Given the description of an element on the screen output the (x, y) to click on. 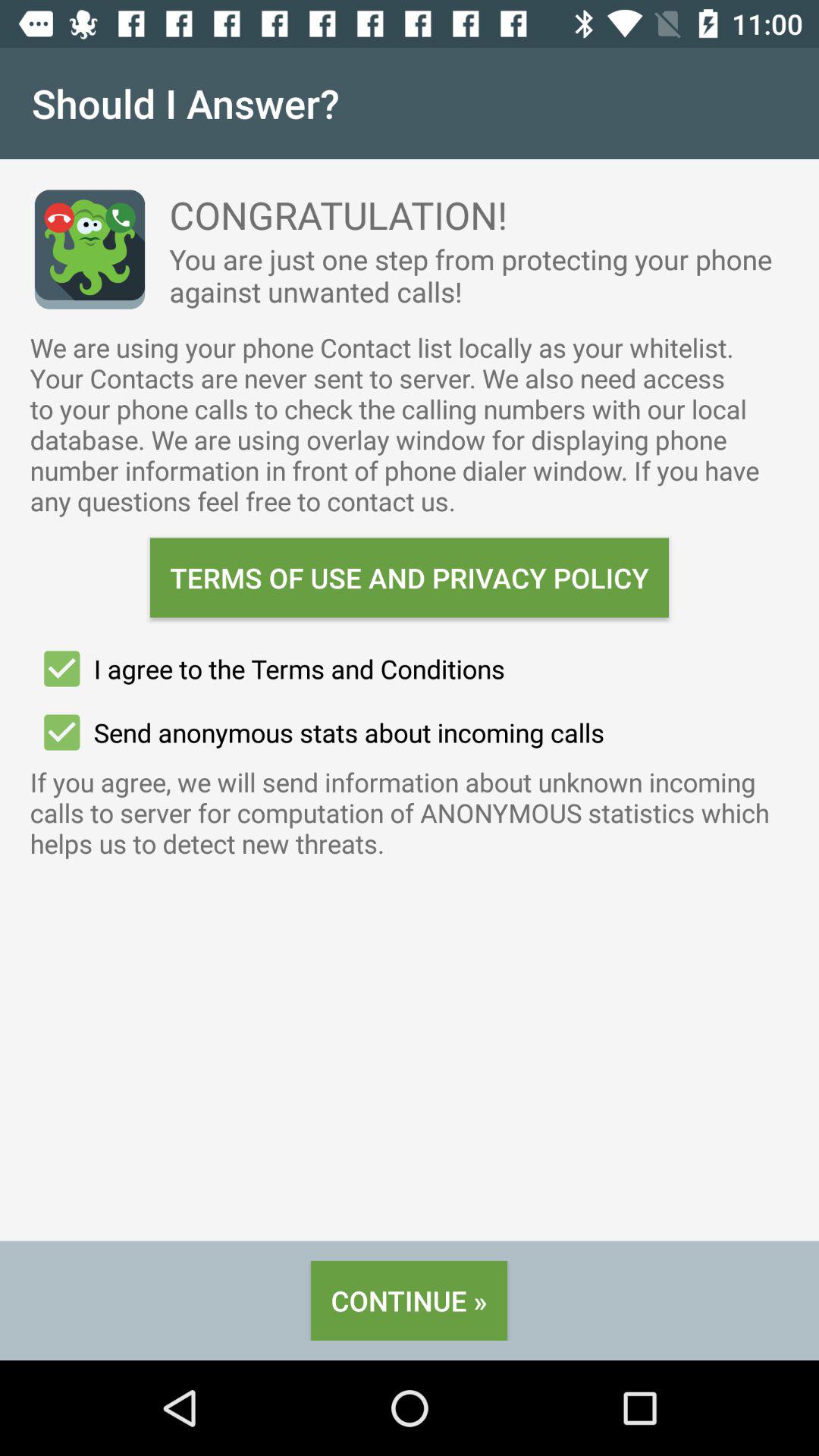
jump until the terms of use icon (409, 577)
